Given the description of an element on the screen output the (x, y) to click on. 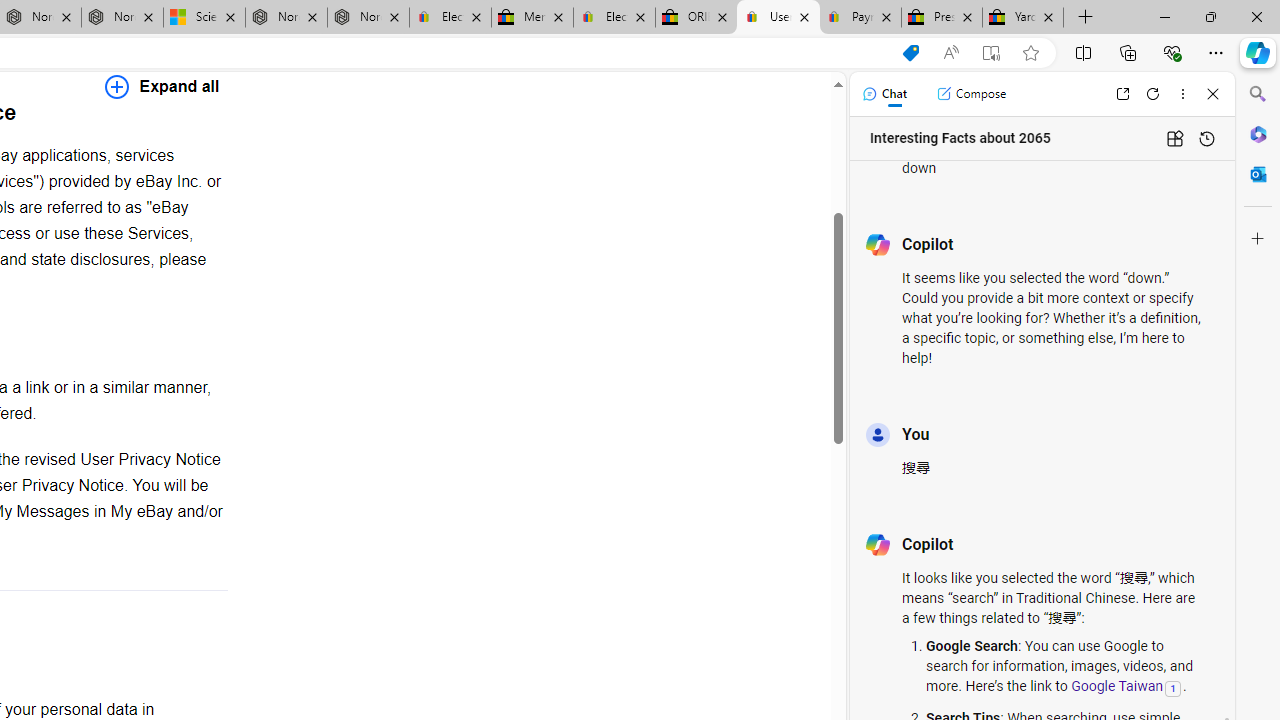
Enter Immersive Reader (F9) (991, 53)
Chat (884, 93)
Compose (971, 93)
